Given the description of an element on the screen output the (x, y) to click on. 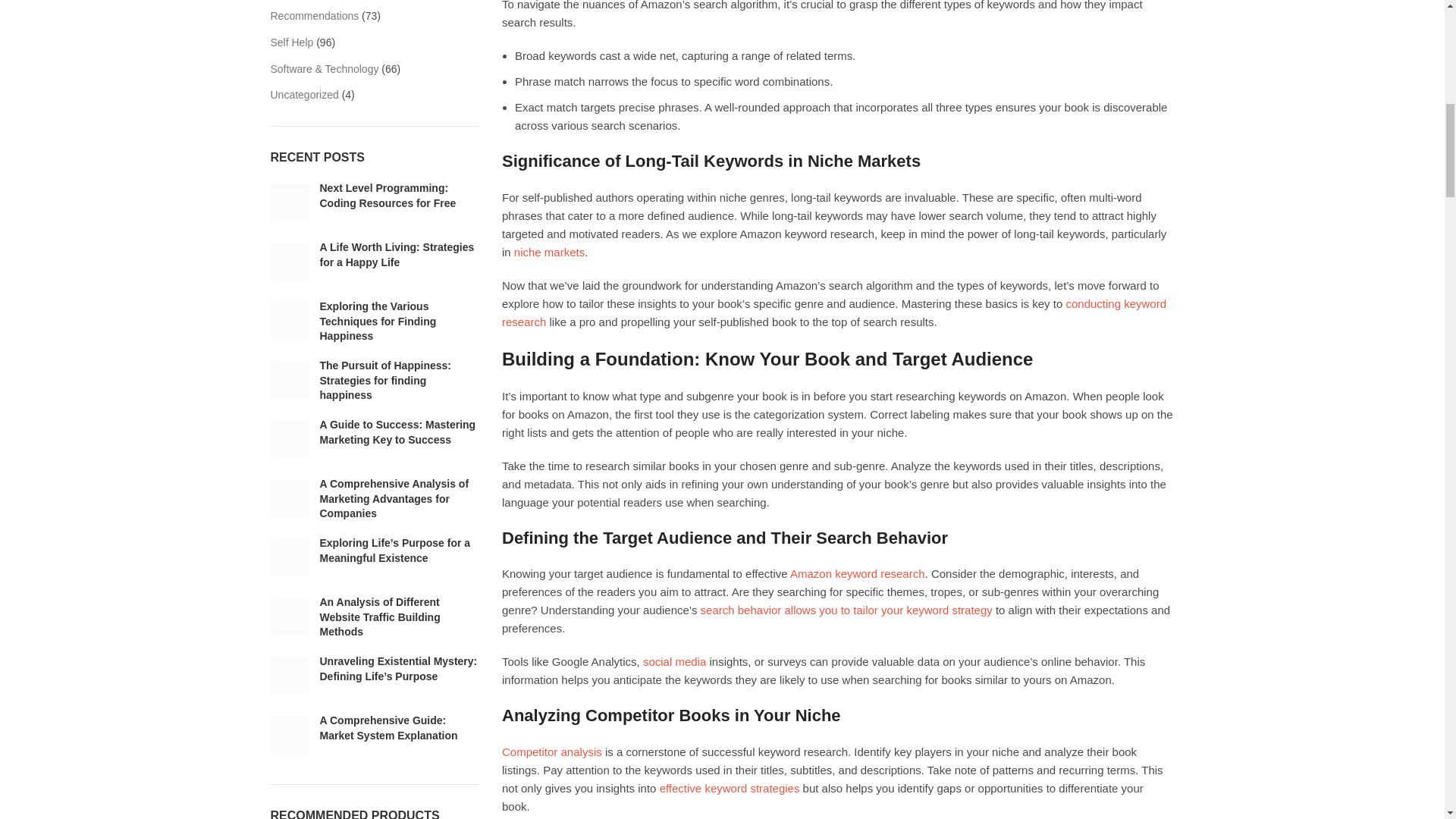
conducting keyword research (834, 312)
search behavior allows you to tailor your keyword strategy (846, 609)
social media (674, 661)
Amazon Keyword Research Services (857, 573)
Competitor analysis (552, 751)
niche markets (549, 251)
Amazon keyword research (857, 573)
effective keyword strategies (729, 788)
